Given the description of an element on the screen output the (x, y) to click on. 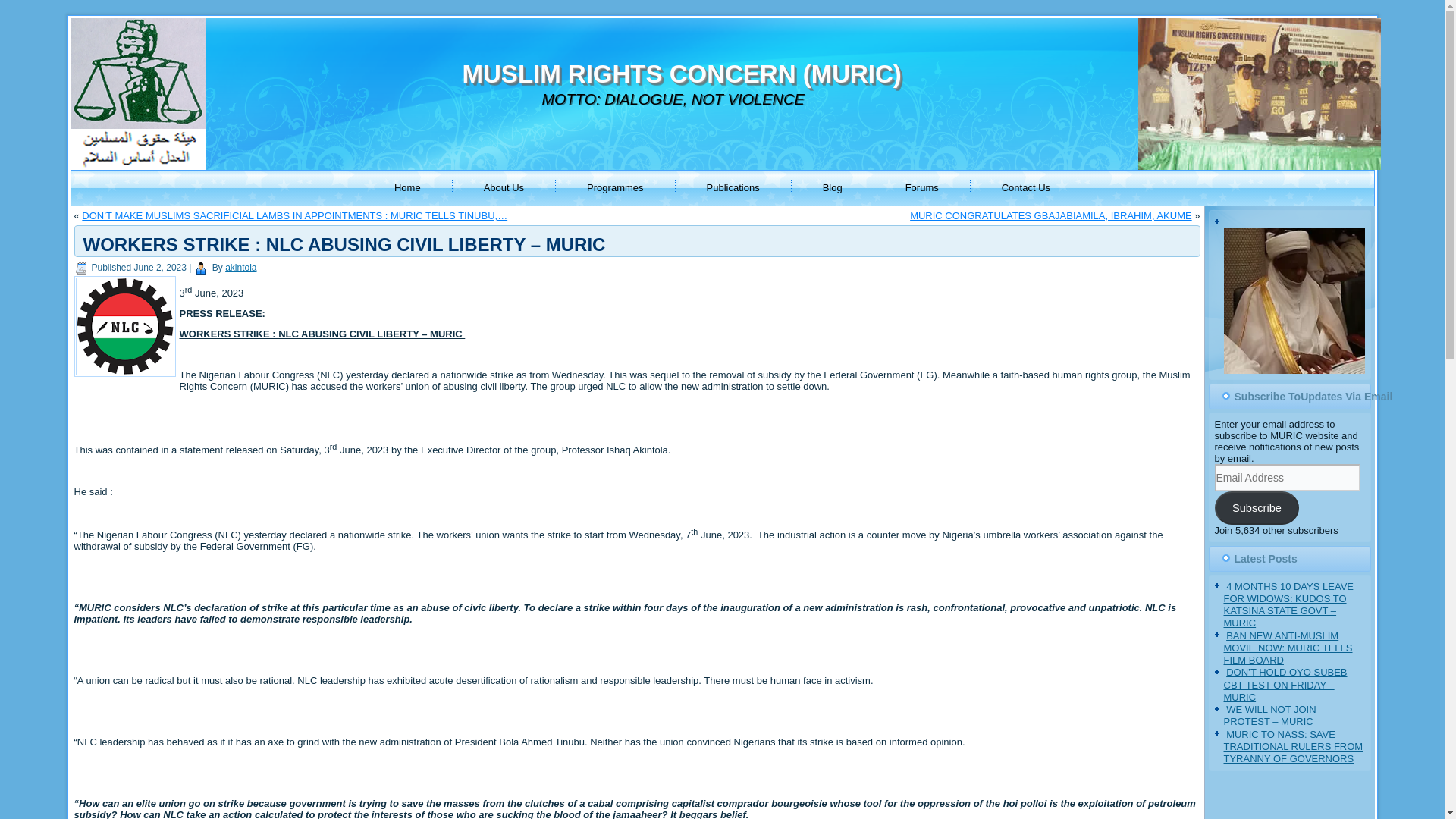
Home (406, 187)
Publications (732, 187)
akintola (240, 267)
About Us (503, 187)
Publications (732, 187)
Forums (922, 187)
Forums (922, 187)
Contact Us (1026, 187)
Blog (832, 187)
MURIC CONGRATULATES GBAJABIAMILA, IBRAHIM, AKUME (1051, 215)
Programmes (615, 187)
About Us (503, 187)
Blog (832, 187)
Home (406, 187)
Programmes (615, 187)
